Given the description of an element on the screen output the (x, y) to click on. 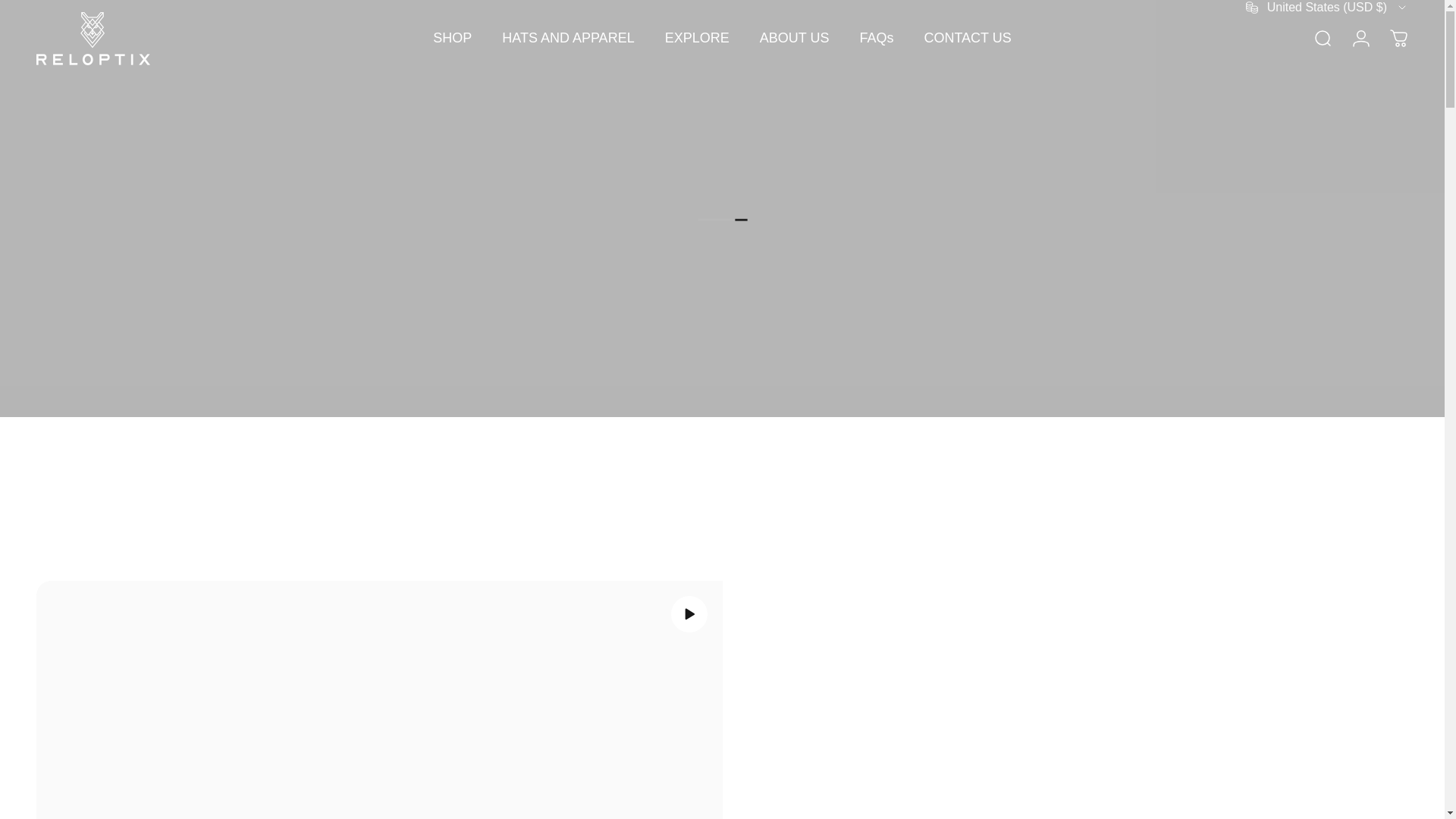
Reloptix on YouTube (110, 7)
Facebook (43, 7)
Reloptix on Facebook (43, 7)
YouTube (110, 7)
Instagram (76, 7)
Reloptix on Instagram (76, 7)
